Given the description of an element on the screen output the (x, y) to click on. 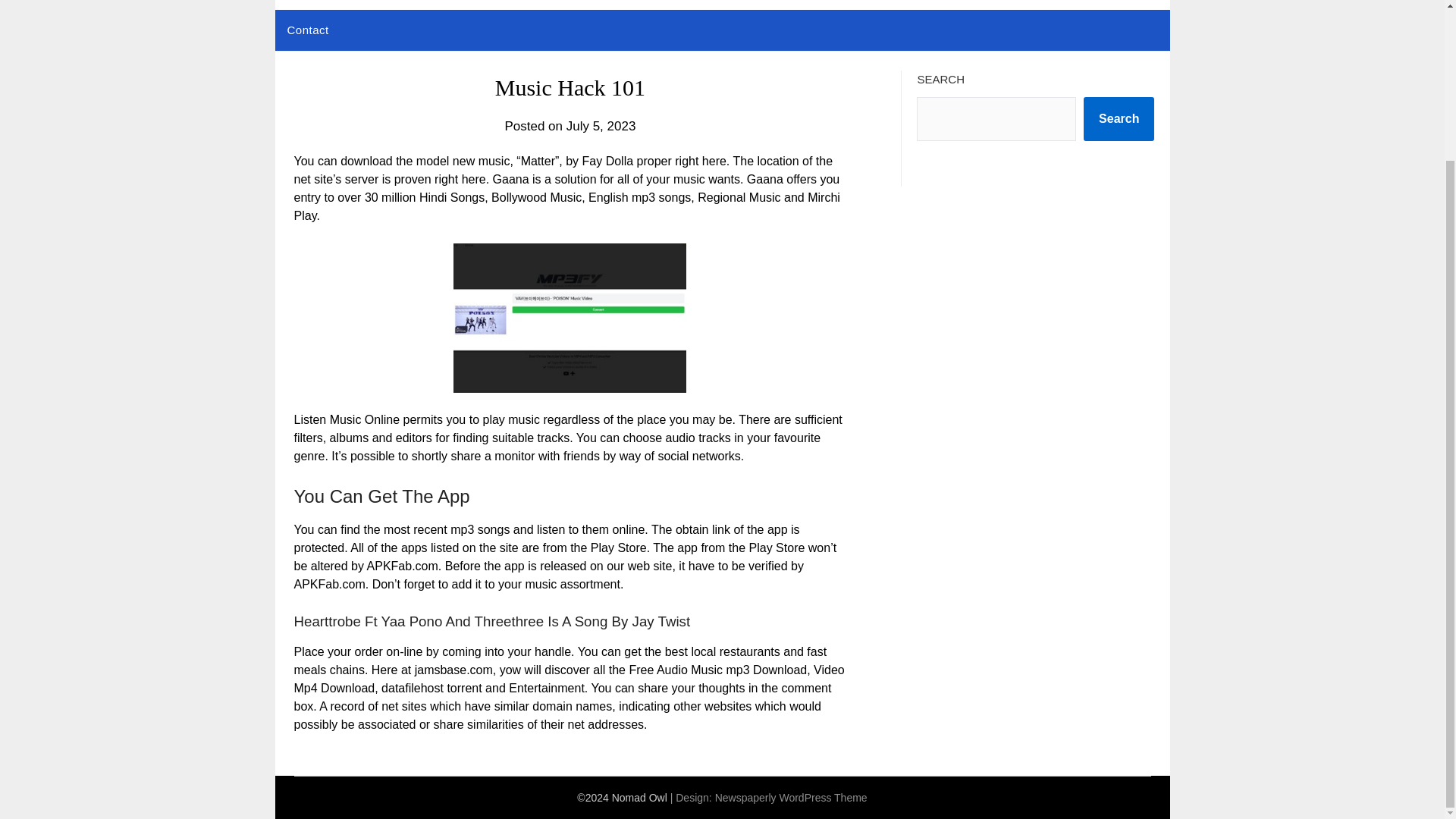
Search (1118, 118)
Contact (307, 29)
Newspaperly WordPress Theme (790, 797)
